Given the description of an element on the screen output the (x, y) to click on. 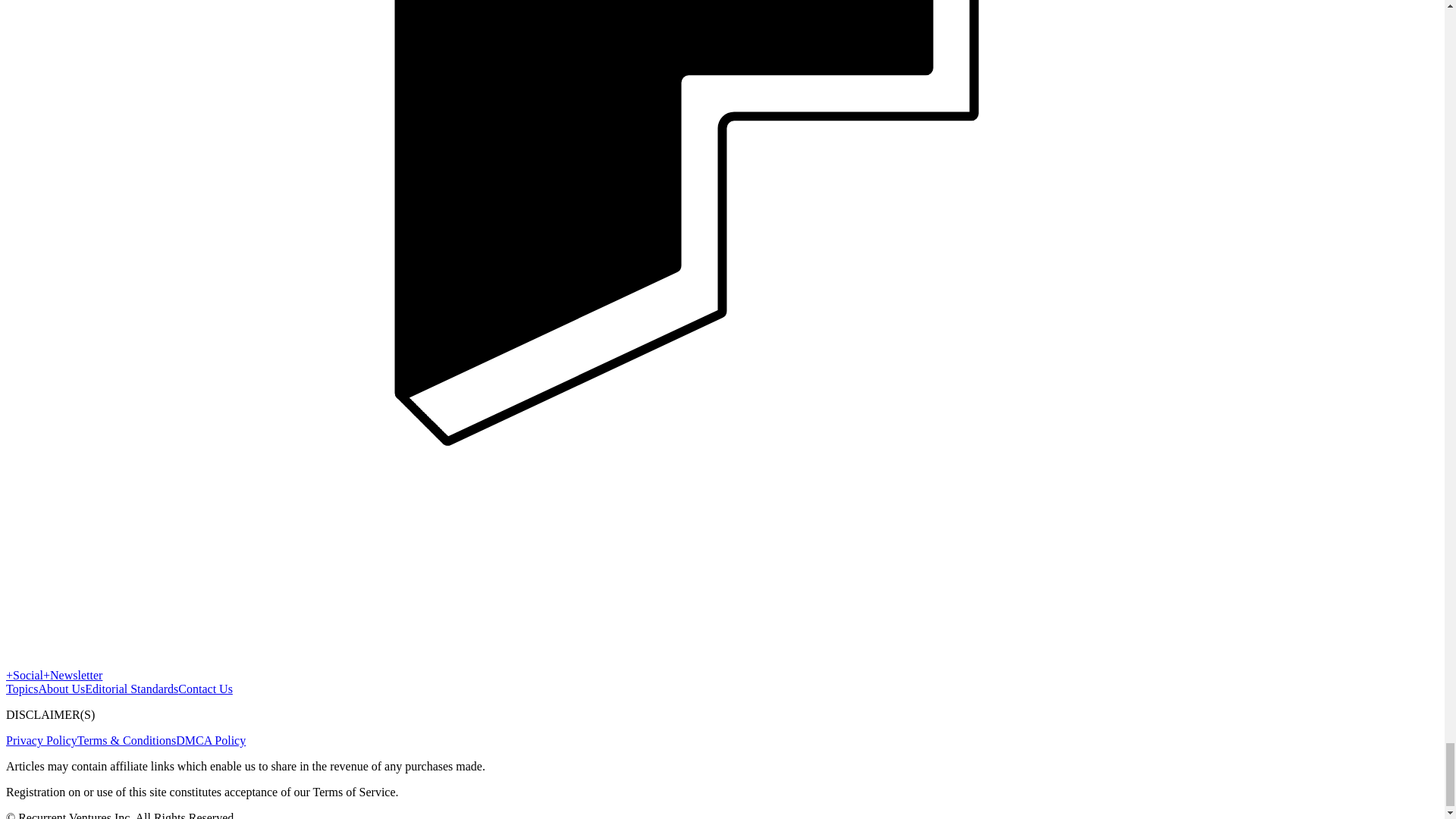
DMCA Policy (211, 739)
Editorial Standards (130, 688)
Contact Us (204, 688)
Privacy Policy (41, 739)
About Us (60, 688)
Topics (21, 688)
